Given the description of an element on the screen output the (x, y) to click on. 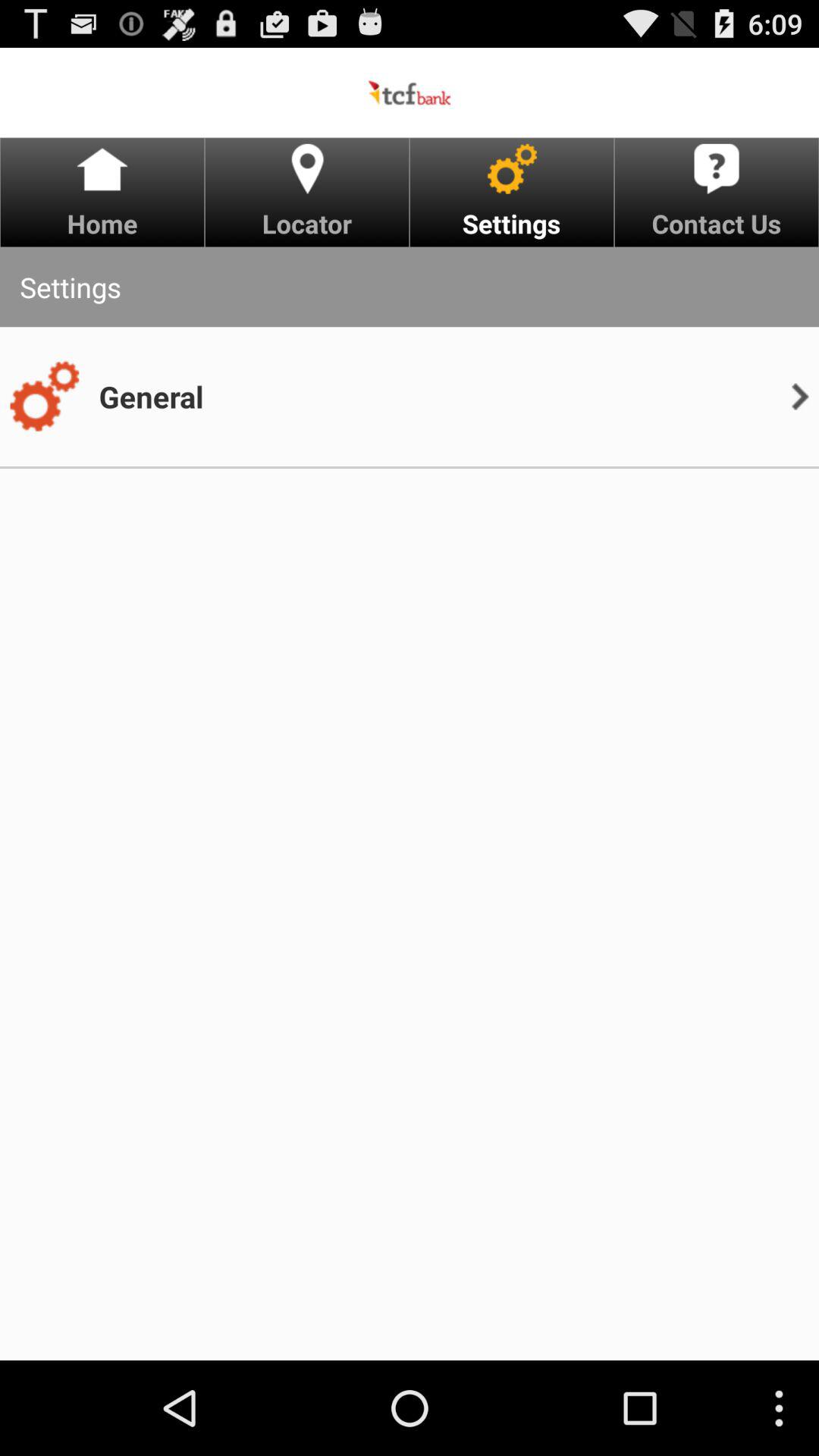
click app to the right of general item (799, 396)
